Given the description of an element on the screen output the (x, y) to click on. 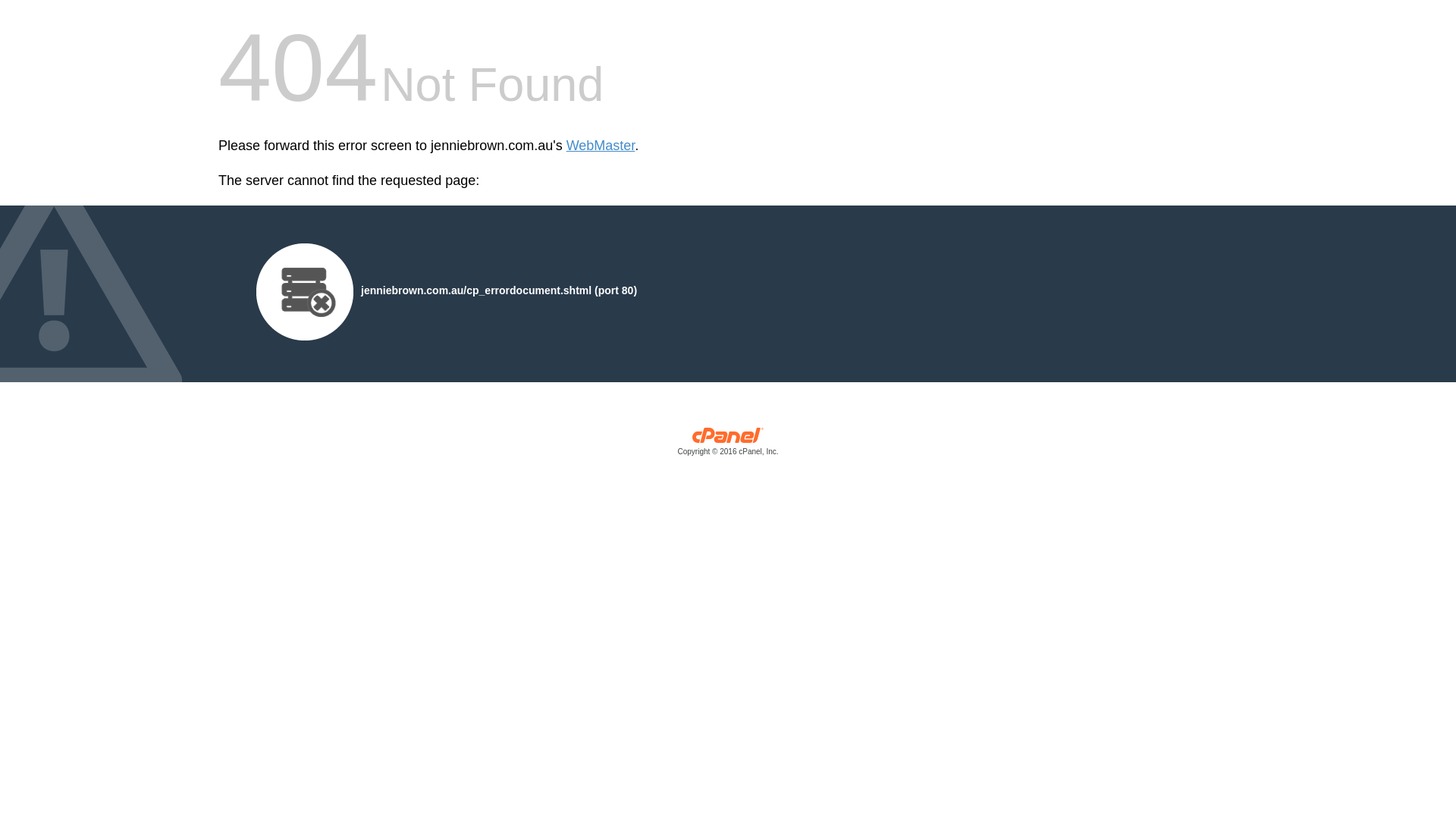
WebMaster Element type: text (600, 145)
